Given the description of an element on the screen output the (x, y) to click on. 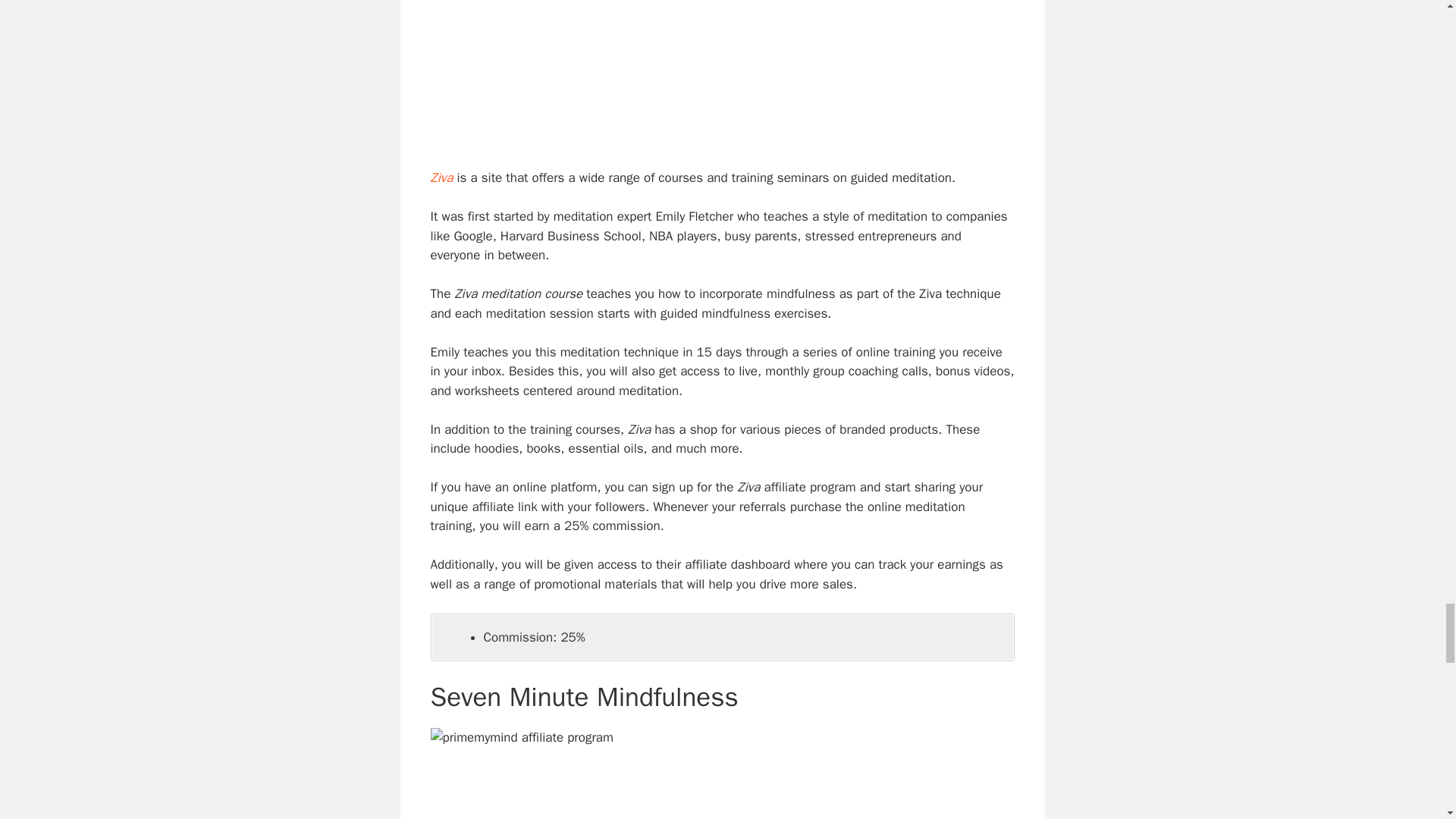
Ziva (441, 177)
